Given the description of an element on the screen output the (x, y) to click on. 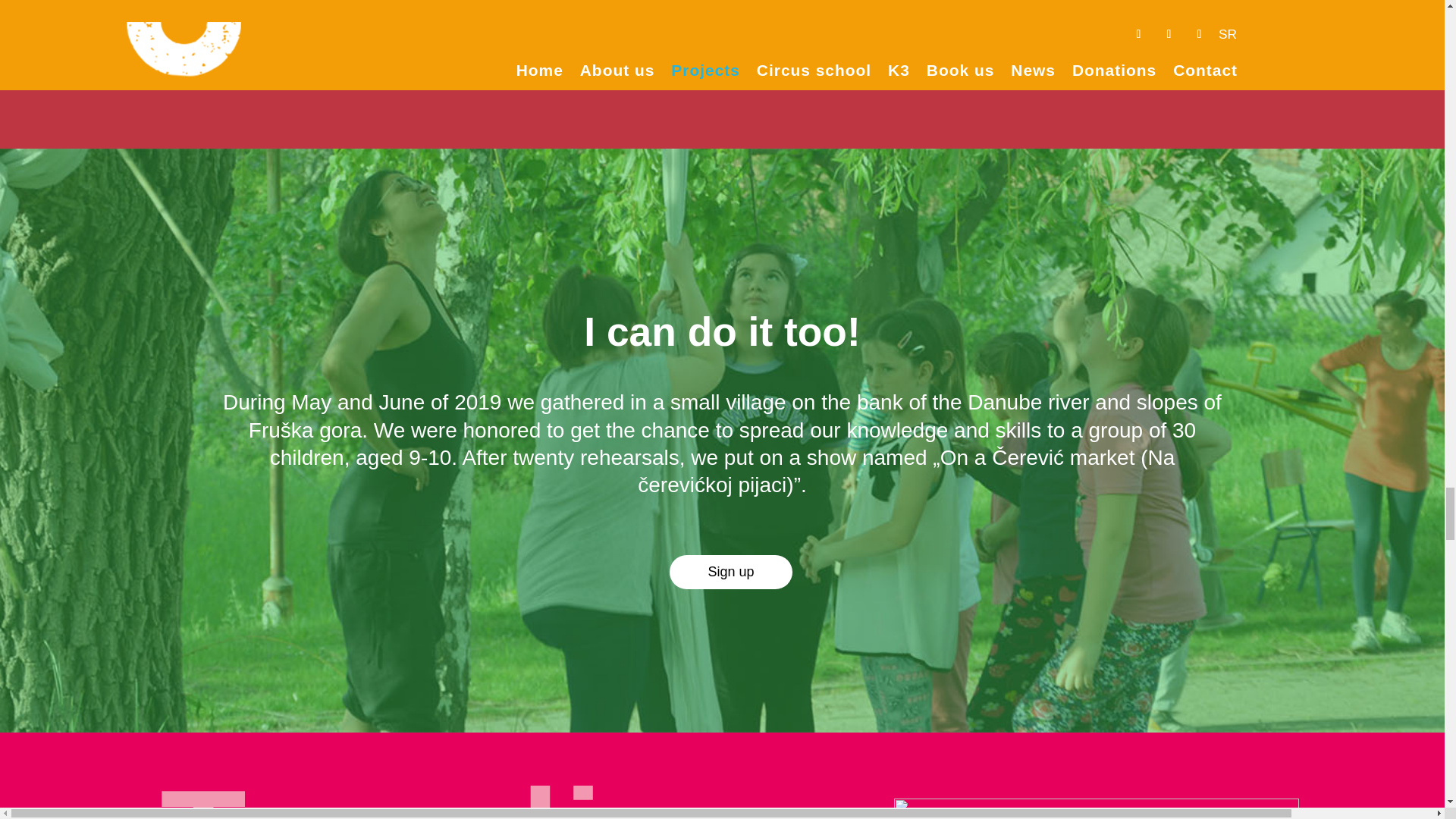
Sign up (730, 571)
